Given the description of an element on the screen output the (x, y) to click on. 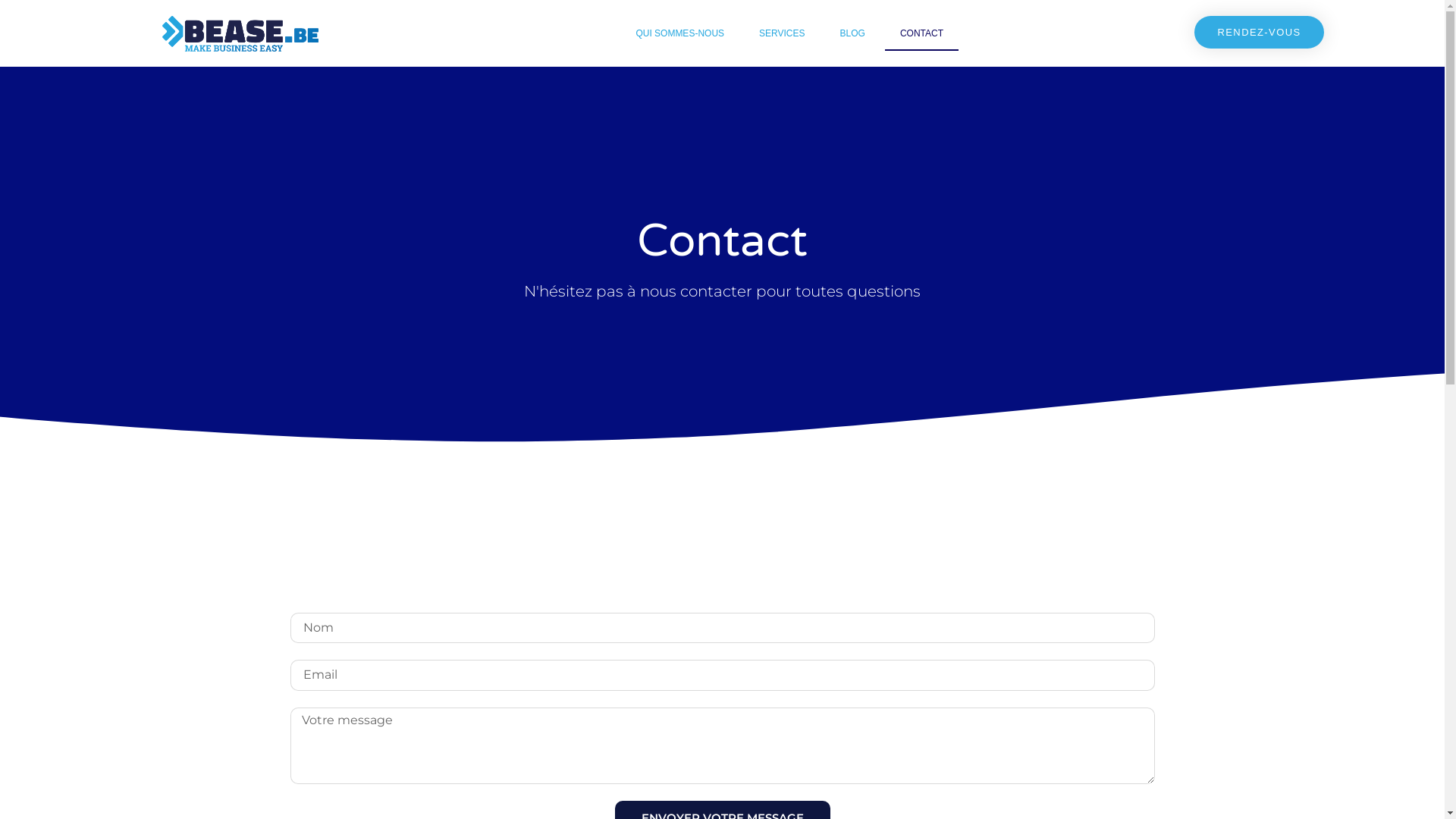
CONTACT Element type: text (921, 32)
BLOG Element type: text (852, 32)
RENDEZ-VOUS Element type: text (1258, 31)
SERVICES Element type: text (781, 32)
QUI SOMMES-NOUS Element type: text (679, 32)
